Given the description of an element on the screen output the (x, y) to click on. 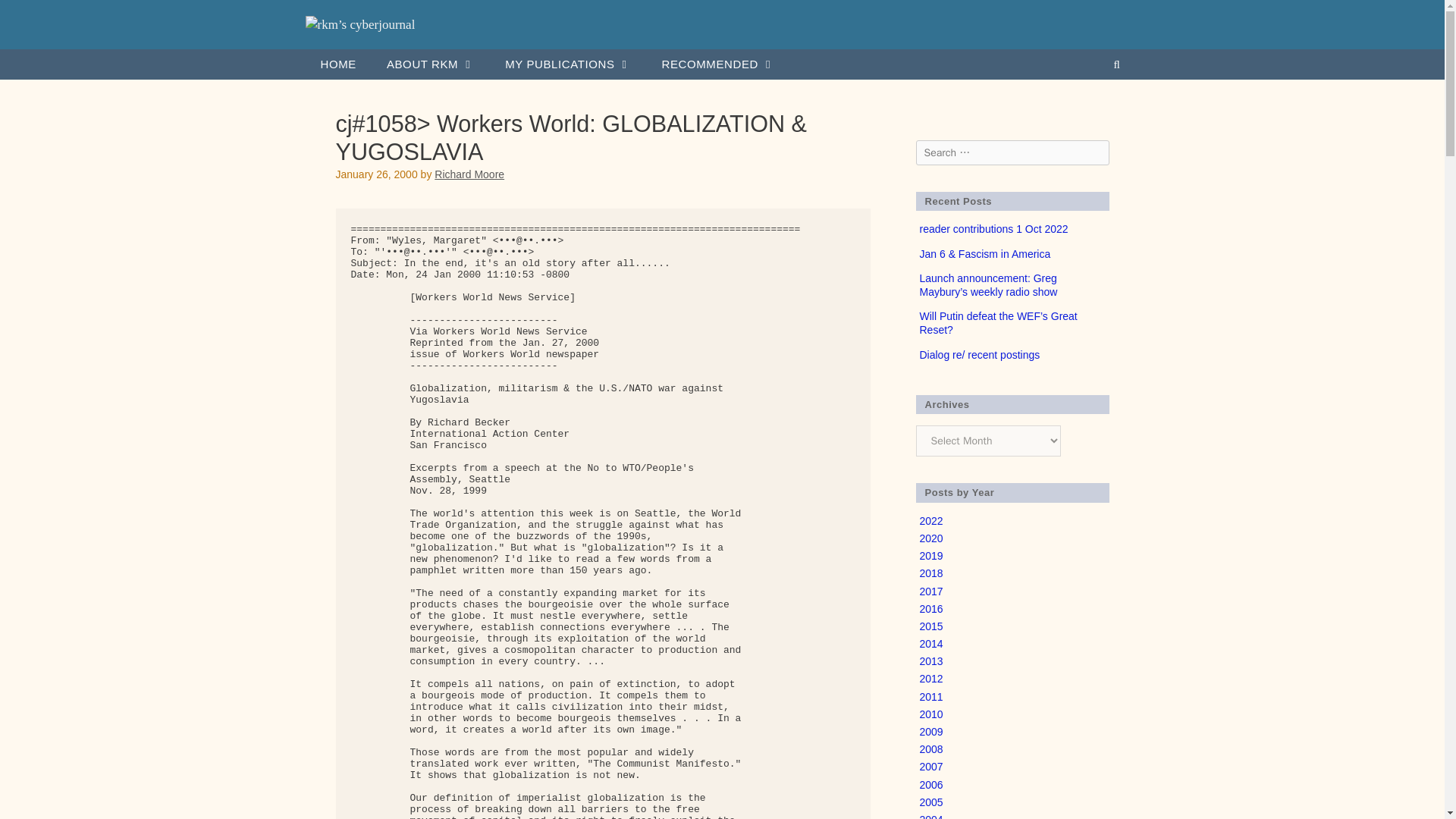
2017 (930, 591)
Richard Moore (468, 174)
MY PUBLICATIONS (567, 64)
View all posts by Richard Moore (468, 174)
reader contributions 1 Oct 2022 (992, 228)
Search (32, 16)
RECOMMENDED (718, 64)
2022 (930, 521)
2020 (930, 538)
ABOUT RKM (430, 64)
2019 (930, 555)
2018 (930, 573)
HOME (337, 64)
Search for: (1012, 152)
